Given the description of an element on the screen output the (x, y) to click on. 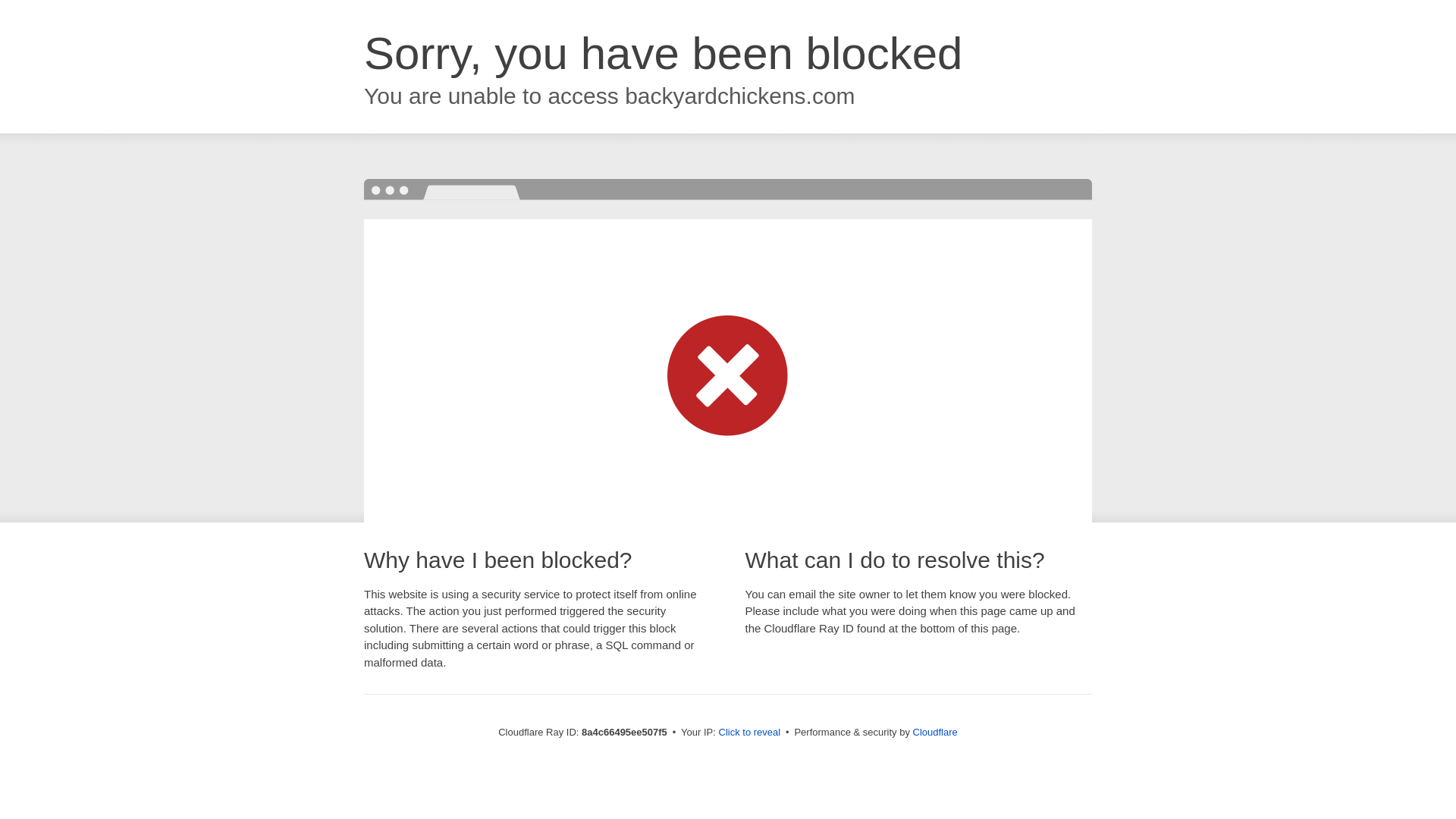
Cloudflare (935, 731)
Click to reveal (749, 732)
